Given the description of an element on the screen output the (x, y) to click on. 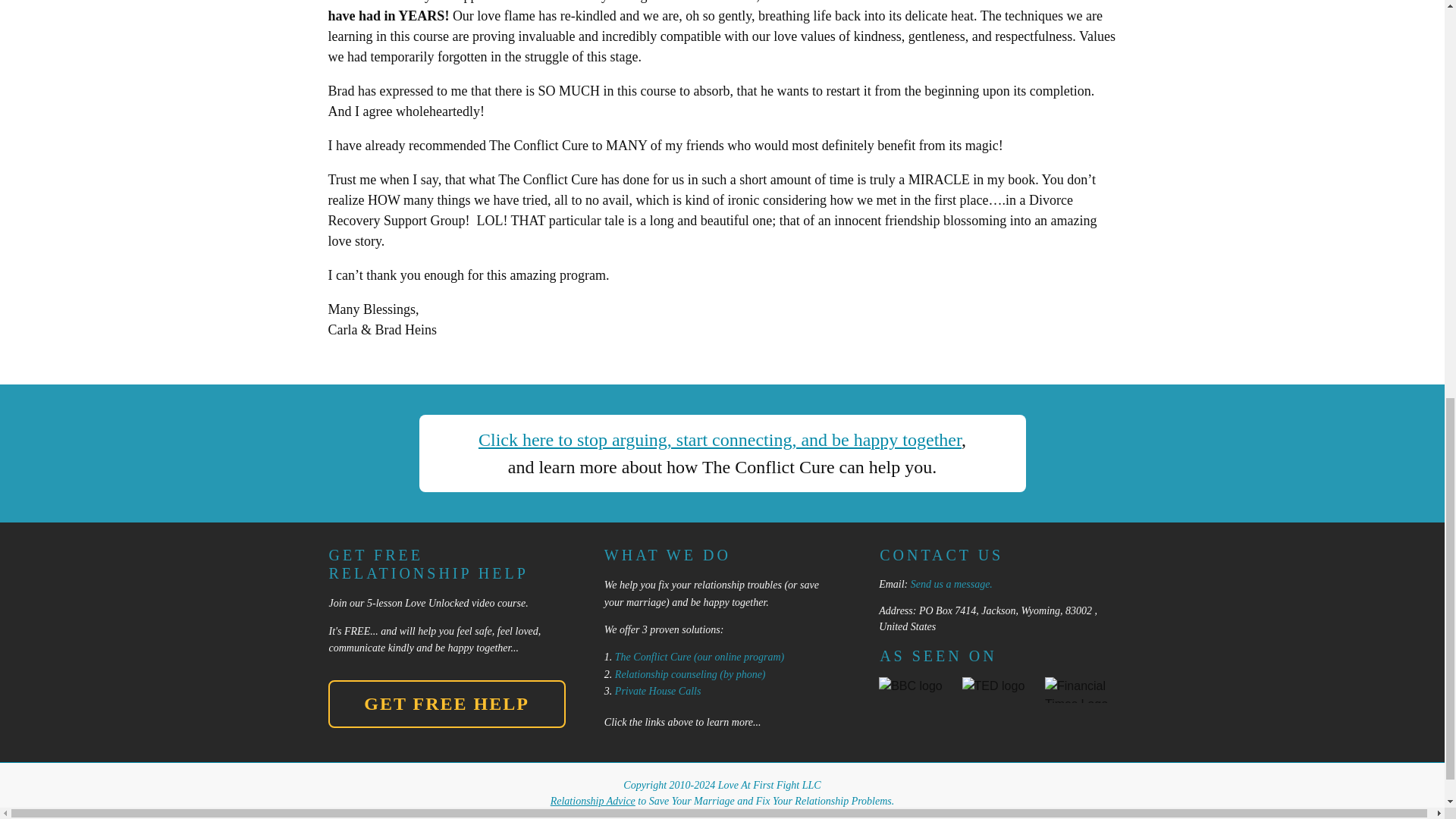
Private House Calls (657, 690)
Relationship Advice (592, 800)
Website Disclaimer (616, 815)
logo-bbc (914, 689)
Affiliates (911, 815)
Terms And Conditions (718, 815)
Login (866, 815)
Privacy Policy (809, 815)
Send us a message. (951, 583)
